Given the description of an element on the screen output the (x, y) to click on. 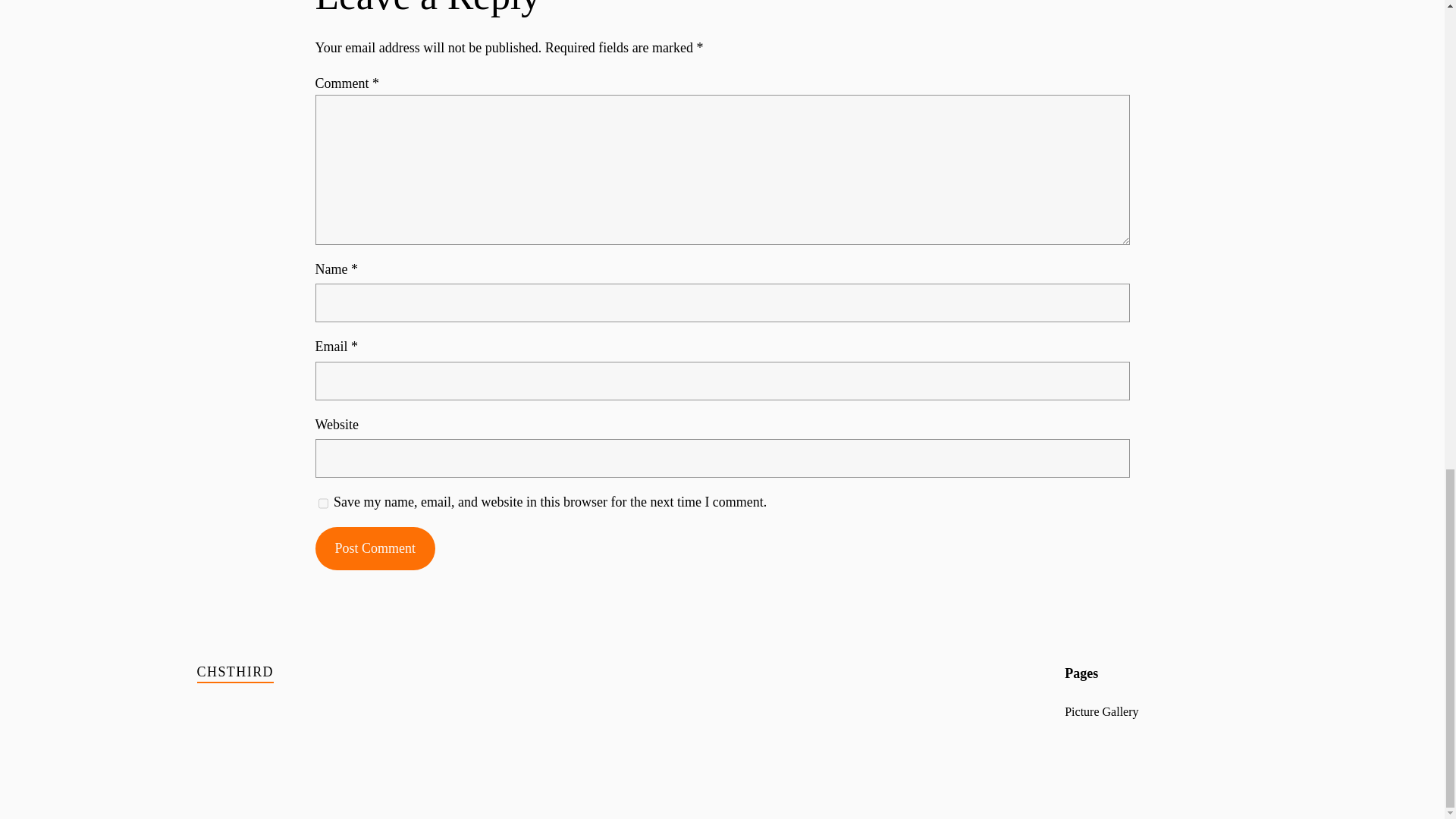
Picture Gallery (1101, 711)
Post Comment (375, 548)
Post Comment (375, 548)
CHSTHIRD (235, 671)
